Given the description of an element on the screen output the (x, y) to click on. 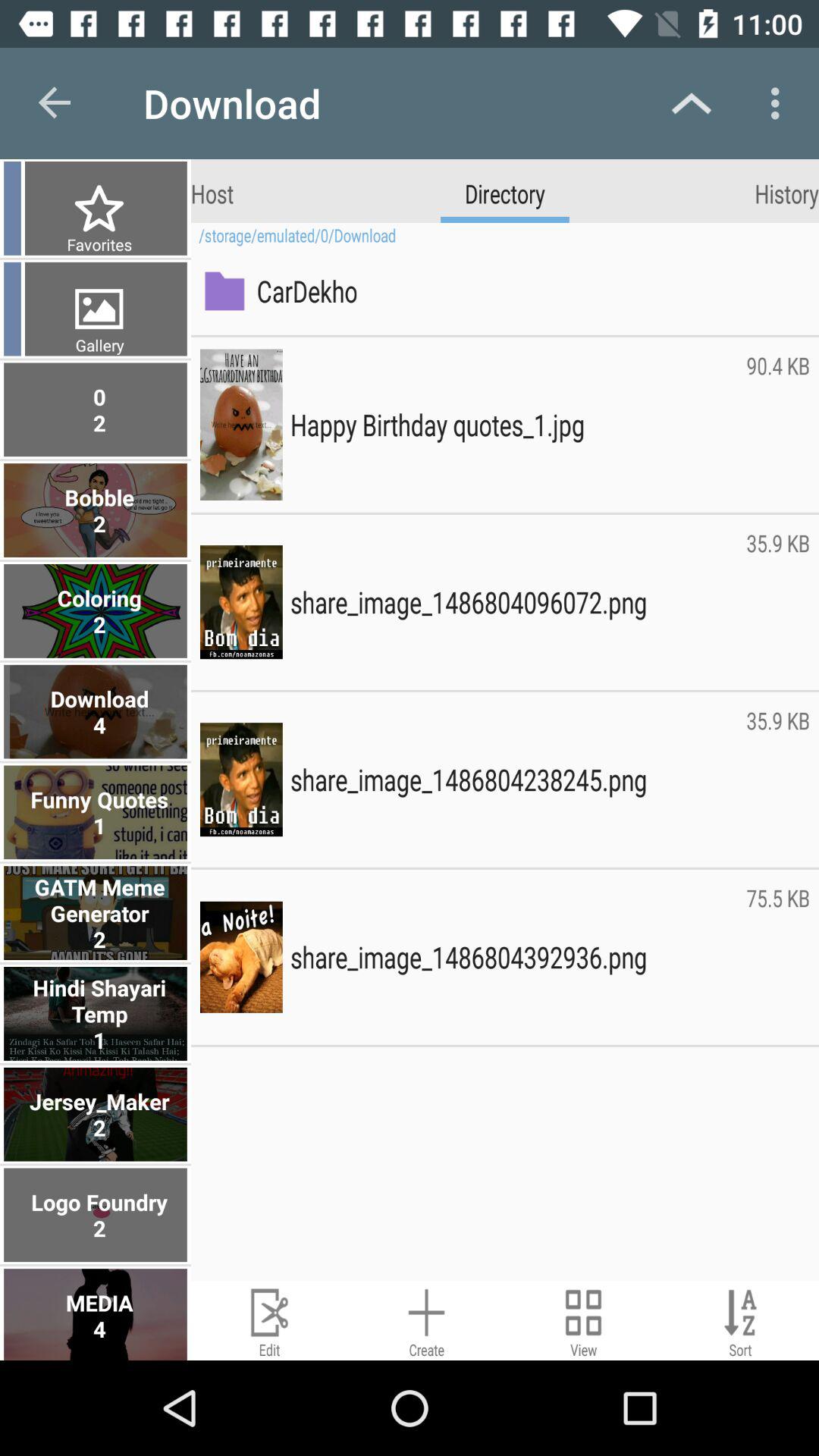
change view (583, 1320)
